Given the description of an element on the screen output the (x, y) to click on. 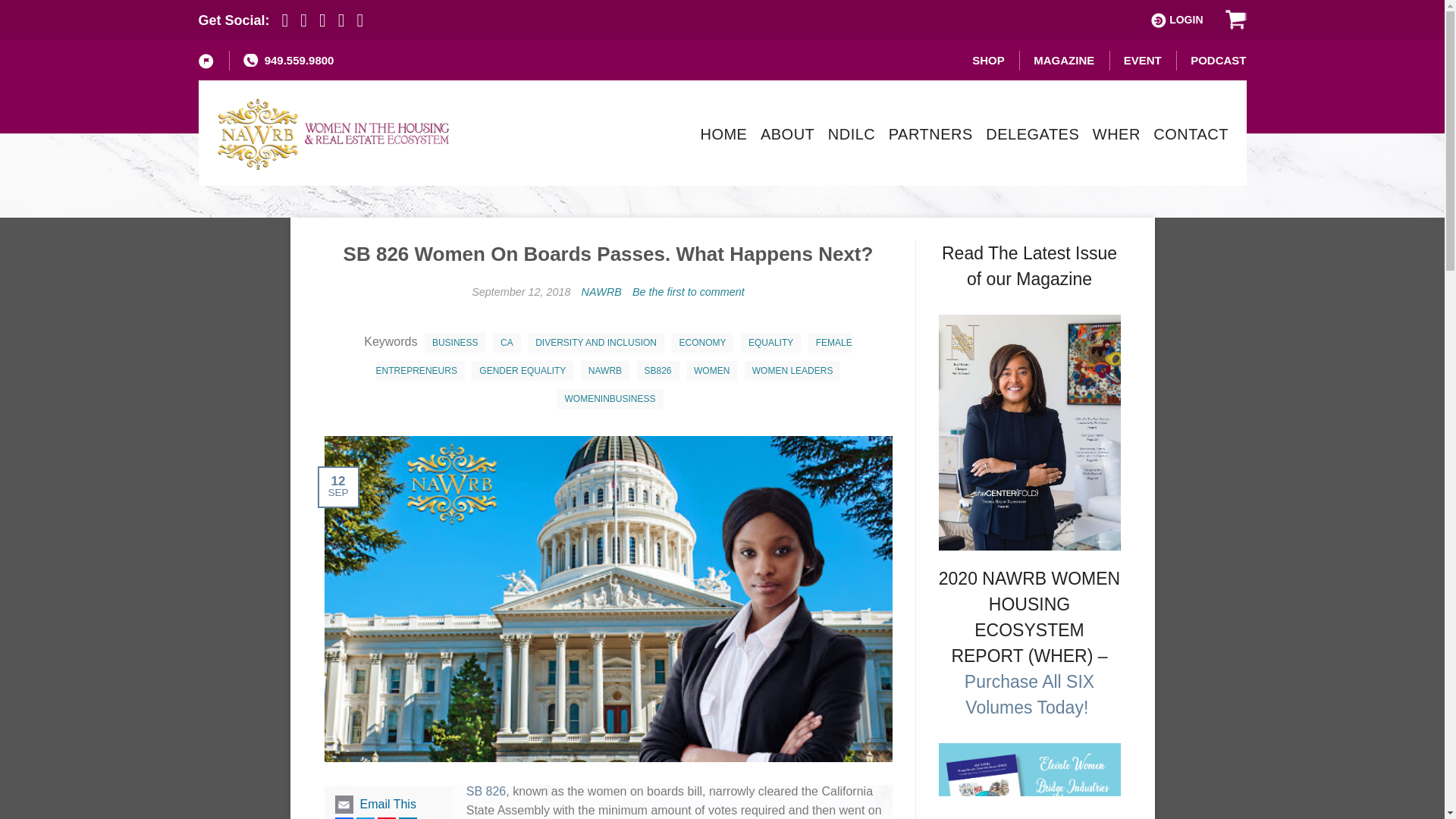
CA (507, 342)
FEMALE ENTREPRENEURS (613, 356)
NDILC (852, 134)
BUSINESS (455, 342)
PODCAST (1218, 60)
SB826 (658, 370)
LOGIN (1177, 20)
CONTACT (1190, 134)
DIVERSITY AND INCLUSION (595, 342)
SHOP (988, 60)
